Given the description of an element on the screen output the (x, y) to click on. 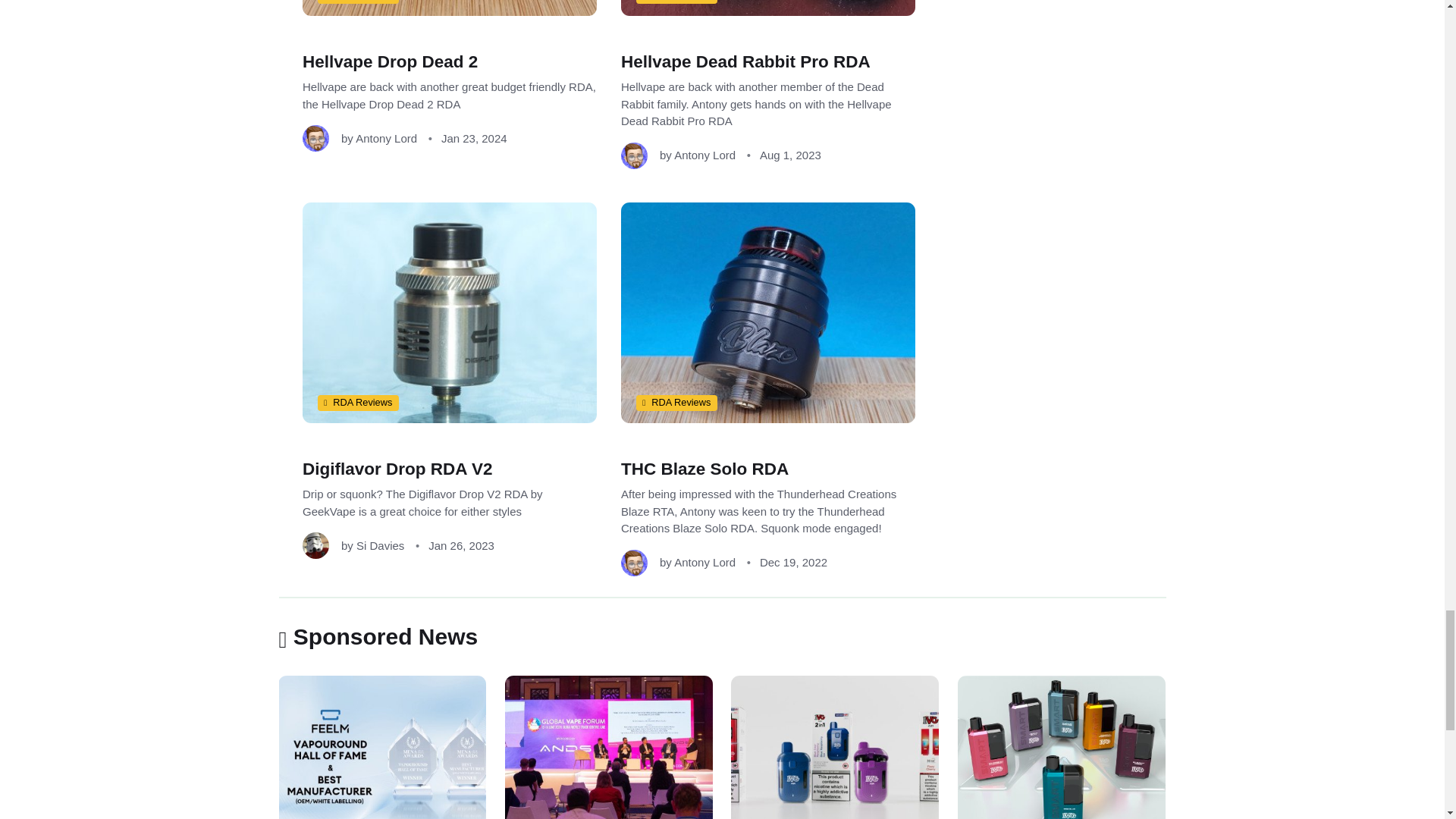
Antony Lord (385, 137)
Hellvape Drop Dead 2 (389, 61)
RDA Reviews (357, 2)
